Given the description of an element on the screen output the (x, y) to click on. 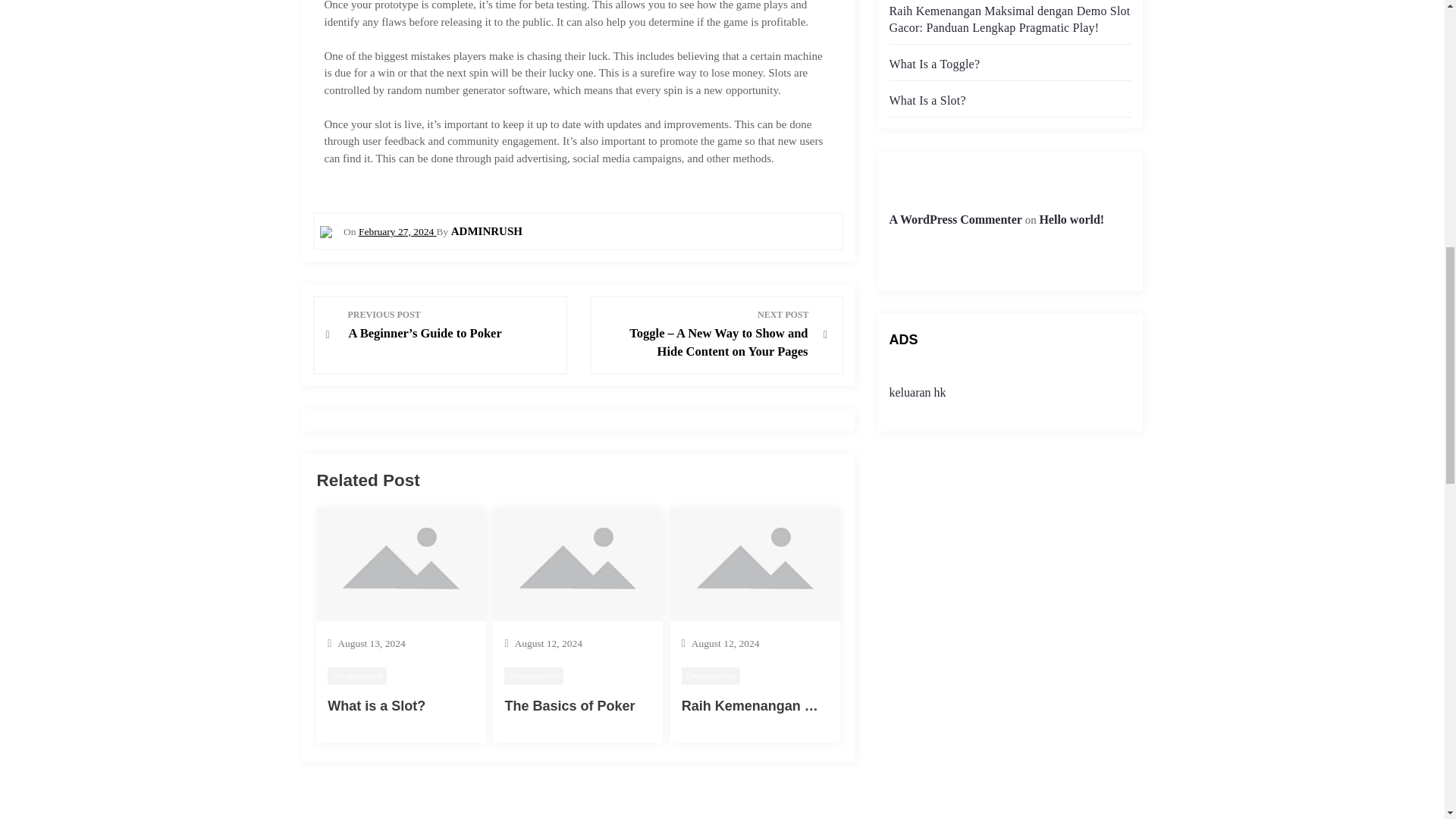
What Is a Slot? (926, 100)
A WordPress Commenter (955, 219)
keluaran hk (916, 391)
What is a Slot? (376, 705)
Uncategorized (533, 675)
Hello world! (1071, 219)
February 27, 2024 (397, 231)
What Is a Toggle? (933, 63)
ADMINRUSH (486, 231)
